Given the description of an element on the screen output the (x, y) to click on. 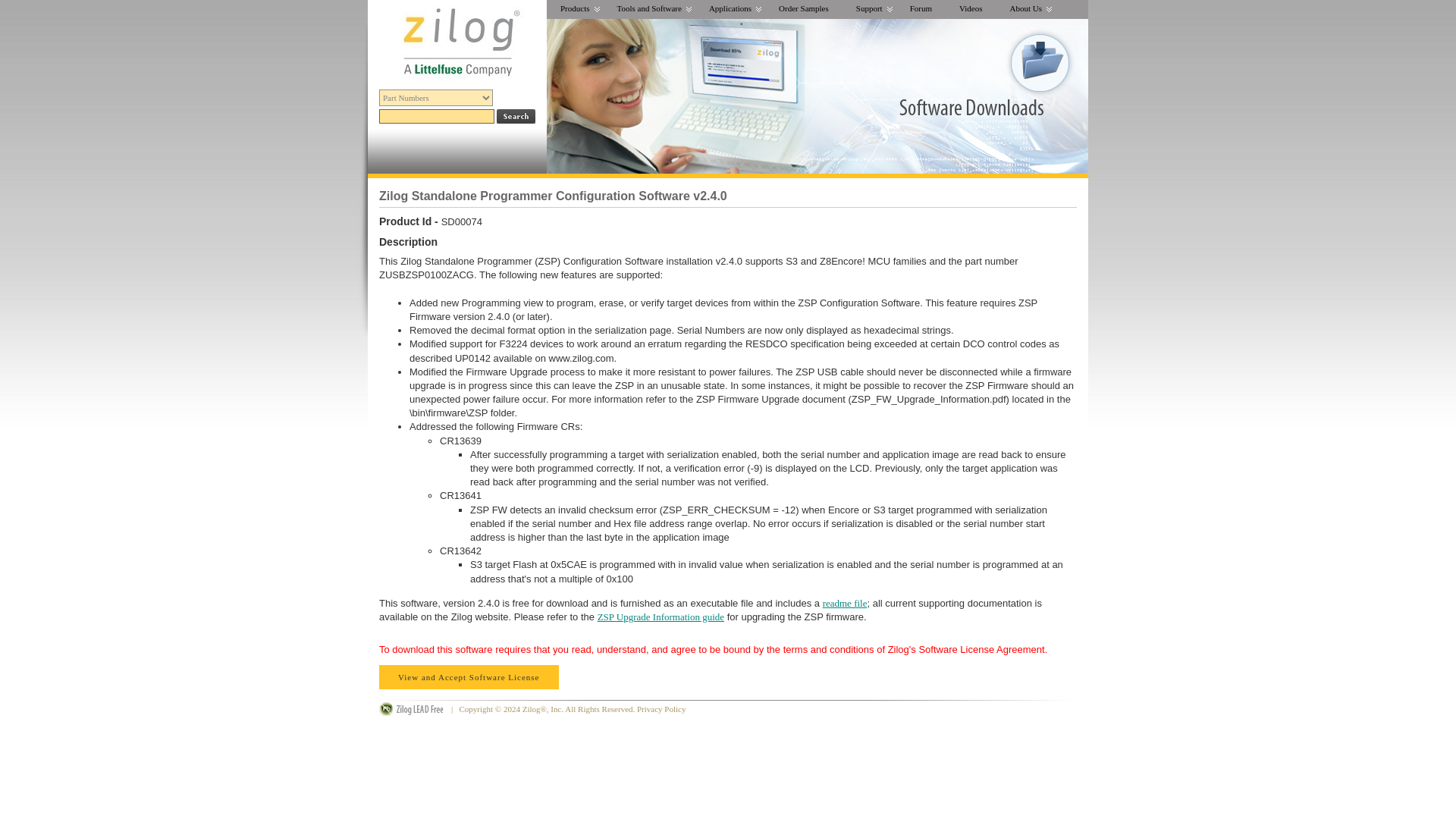
Products (575, 9)
Applications (730, 9)
Tools and Software (649, 9)
